Given the description of an element on the screen output the (x, y) to click on. 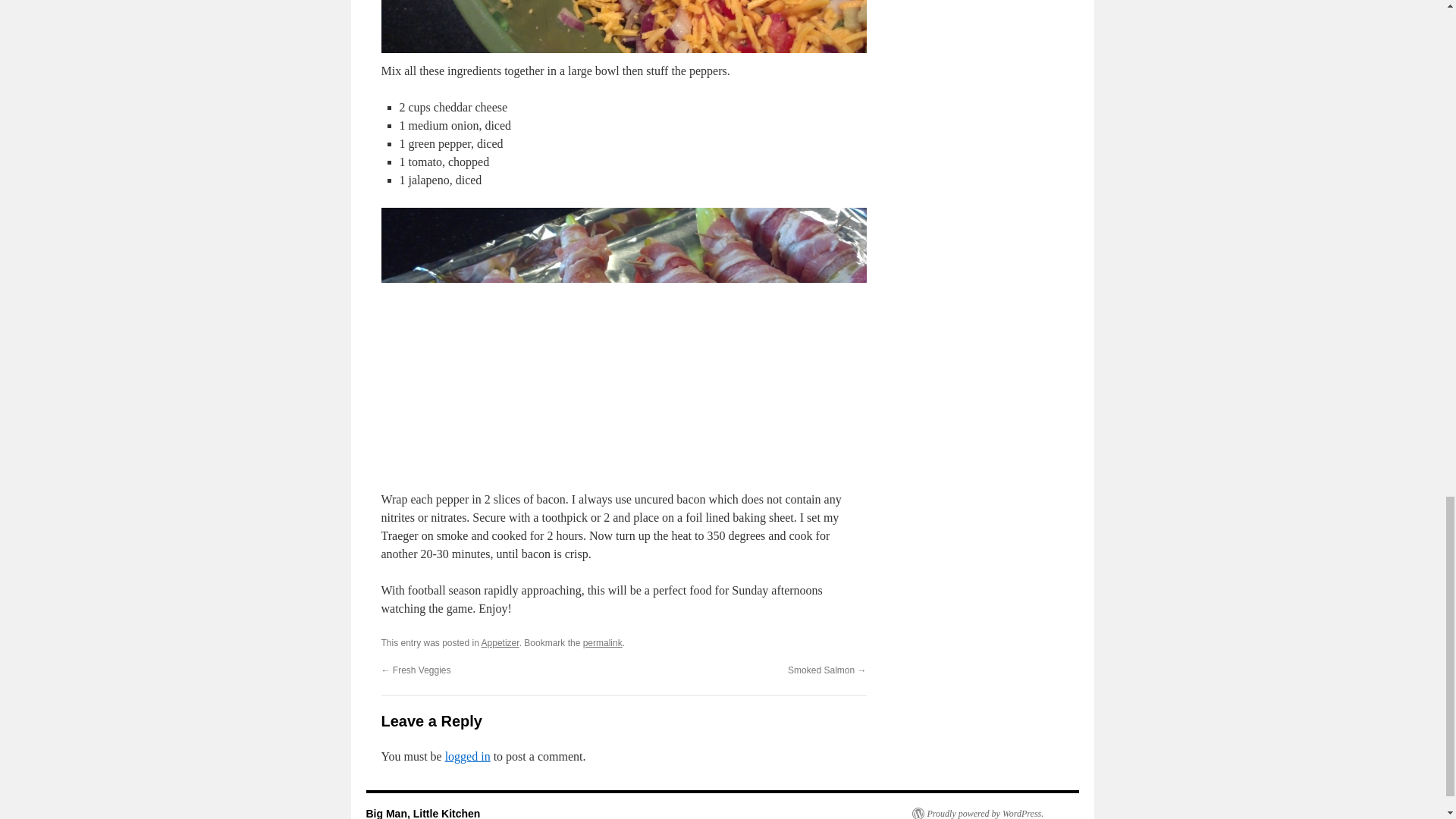
Permalink to Smoked Banana Peppers (603, 643)
permalink (603, 643)
Appetizer (500, 643)
logged in (467, 756)
